Given the description of an element on the screen output the (x, y) to click on. 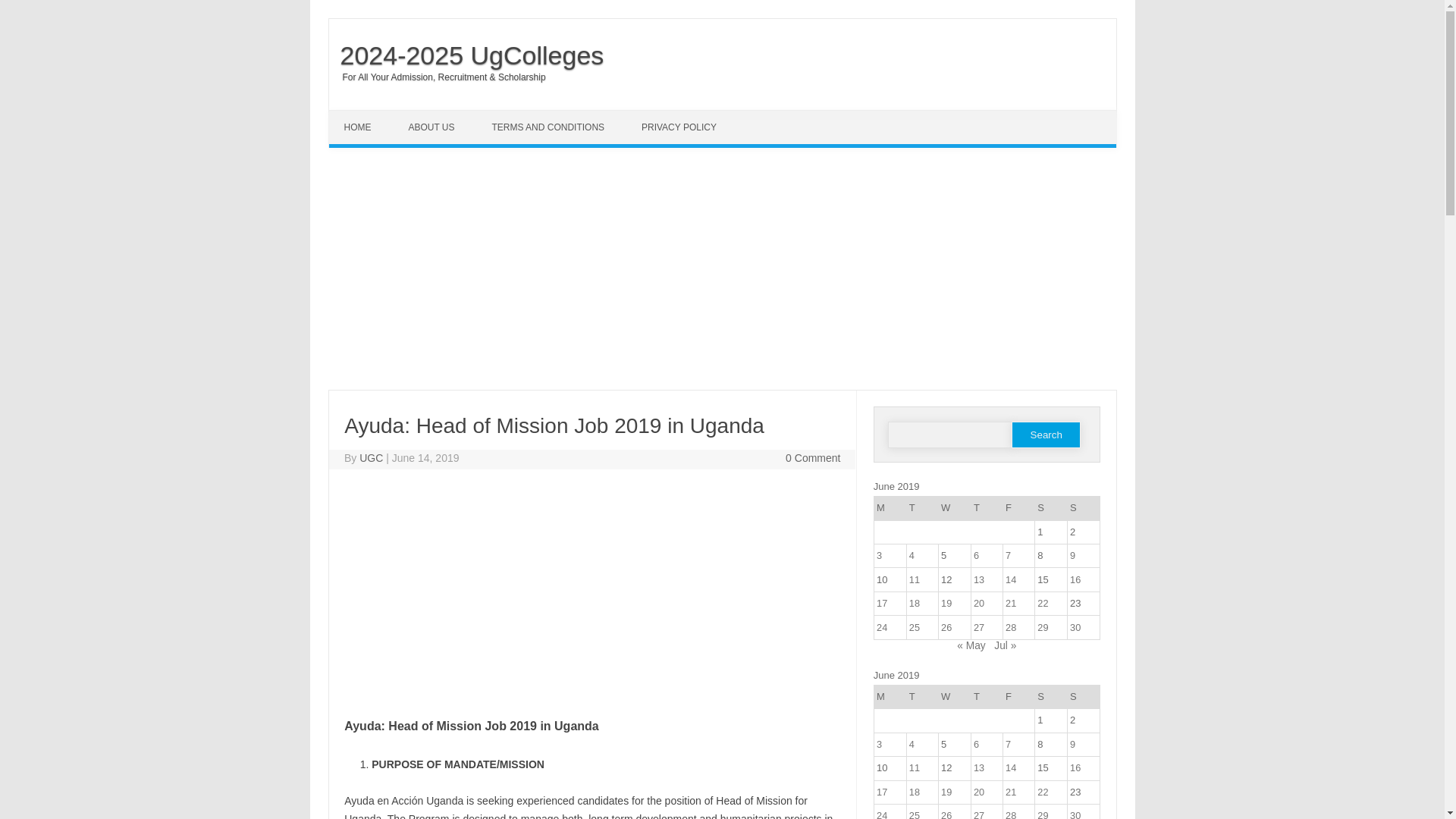
20 (979, 603)
26 (946, 627)
PRIVACY POLICY (680, 127)
Posts by UGC (370, 458)
25 (914, 627)
2024-2025 UgColleges (466, 54)
Search (1045, 434)
16 (1075, 579)
0 Comment (813, 458)
21 (1011, 603)
